Given the description of an element on the screen output the (x, y) to click on. 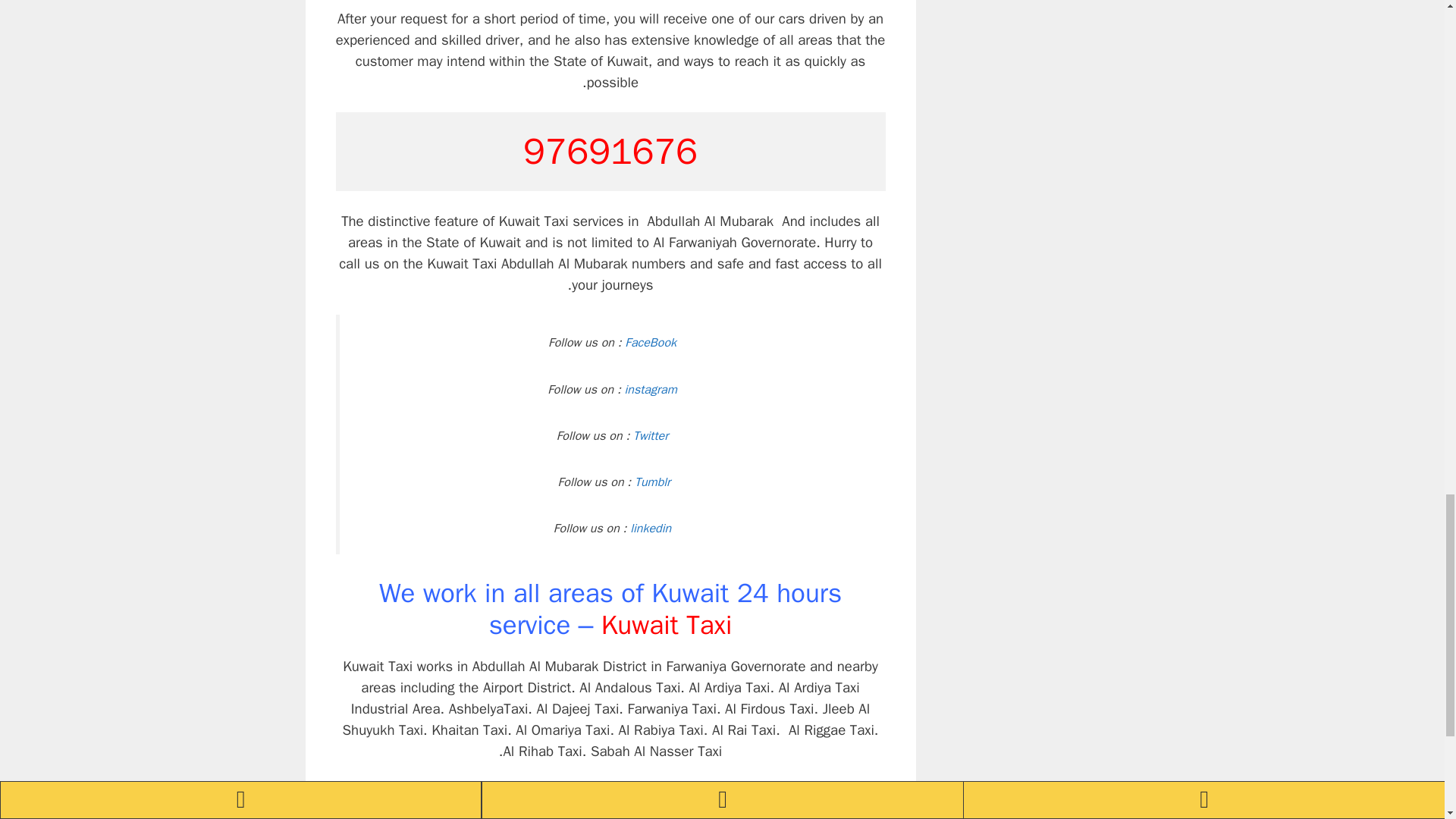
FaceBook (650, 342)
Twitter (718, 796)
LinkedIn (627, 796)
Facebook (809, 796)
LinkedIn (627, 796)
X (840, 796)
WhatsApp (870, 796)
Facebook (809, 796)
WhatsApp (870, 796)
Message (657, 796)
Copy Link (536, 796)
Pinterest (779, 796)
Gmail (566, 796)
Pinterest (779, 796)
Telegram (687, 796)
